Given the description of an element on the screen output the (x, y) to click on. 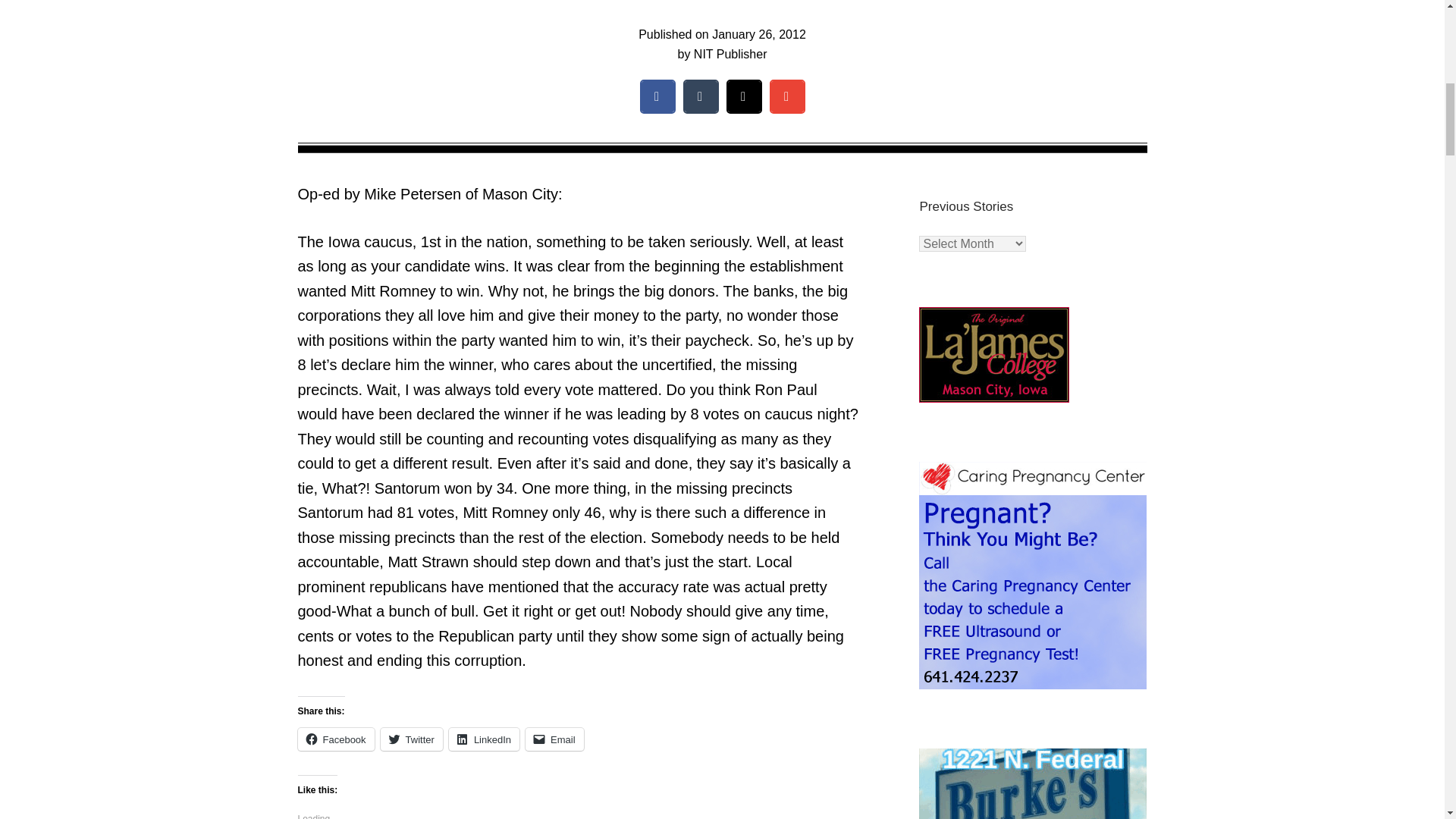
Click to email a link to a friend (554, 739)
Click to share on Twitter (411, 739)
Email (554, 739)
Click to share on Facebook (335, 739)
Twitter (411, 739)
Facebook (335, 739)
LinkedIn (483, 739)
Click to share on LinkedIn (483, 739)
